Given the description of an element on the screen output the (x, y) to click on. 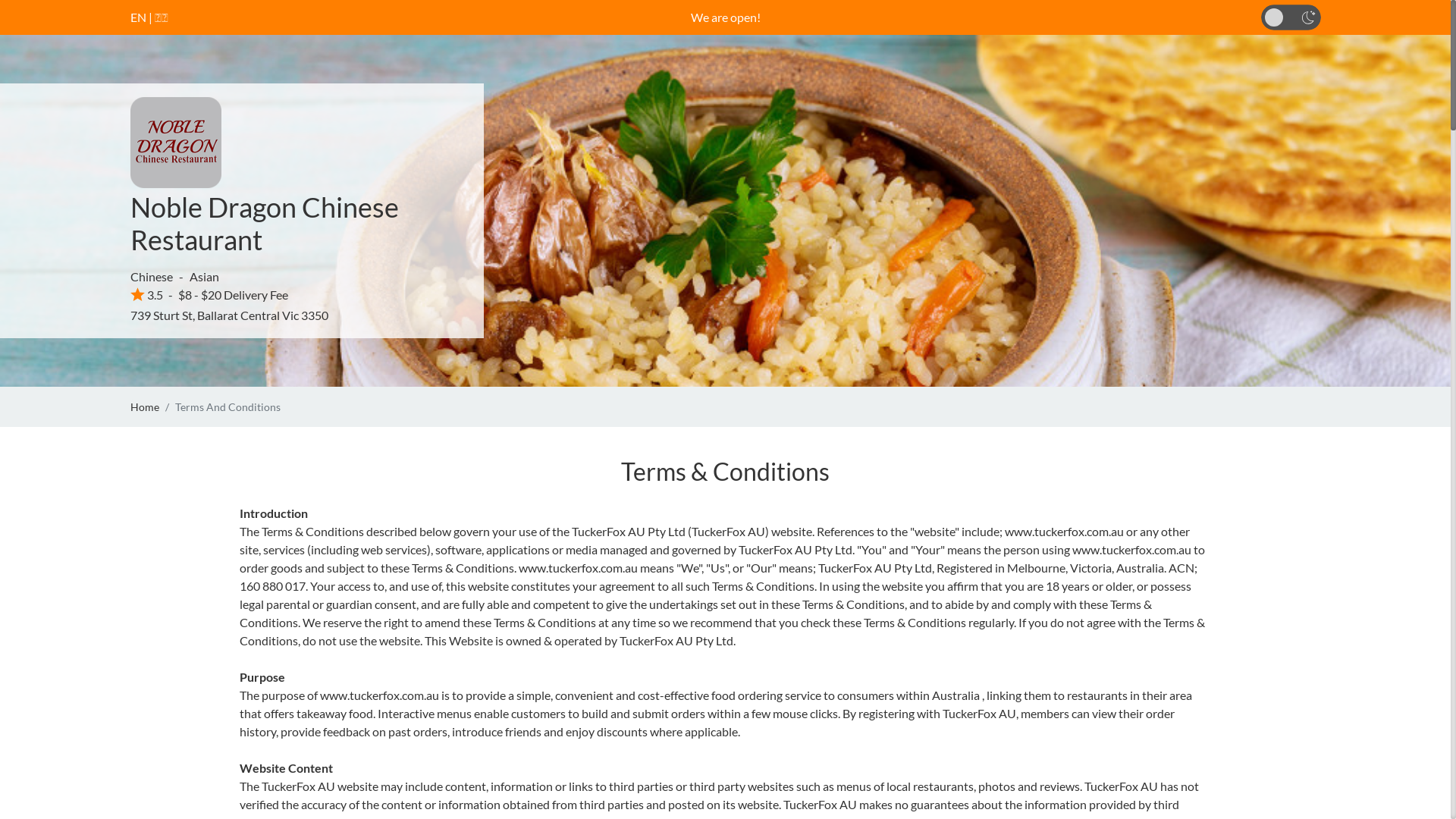
Noble Dragon Chinese Restaurant Element type: text (264, 223)
3.5 Element type: text (146, 294)
EN Element type: text (138, 16)
Home Element type: text (144, 406)
